Given the description of an element on the screen output the (x, y) to click on. 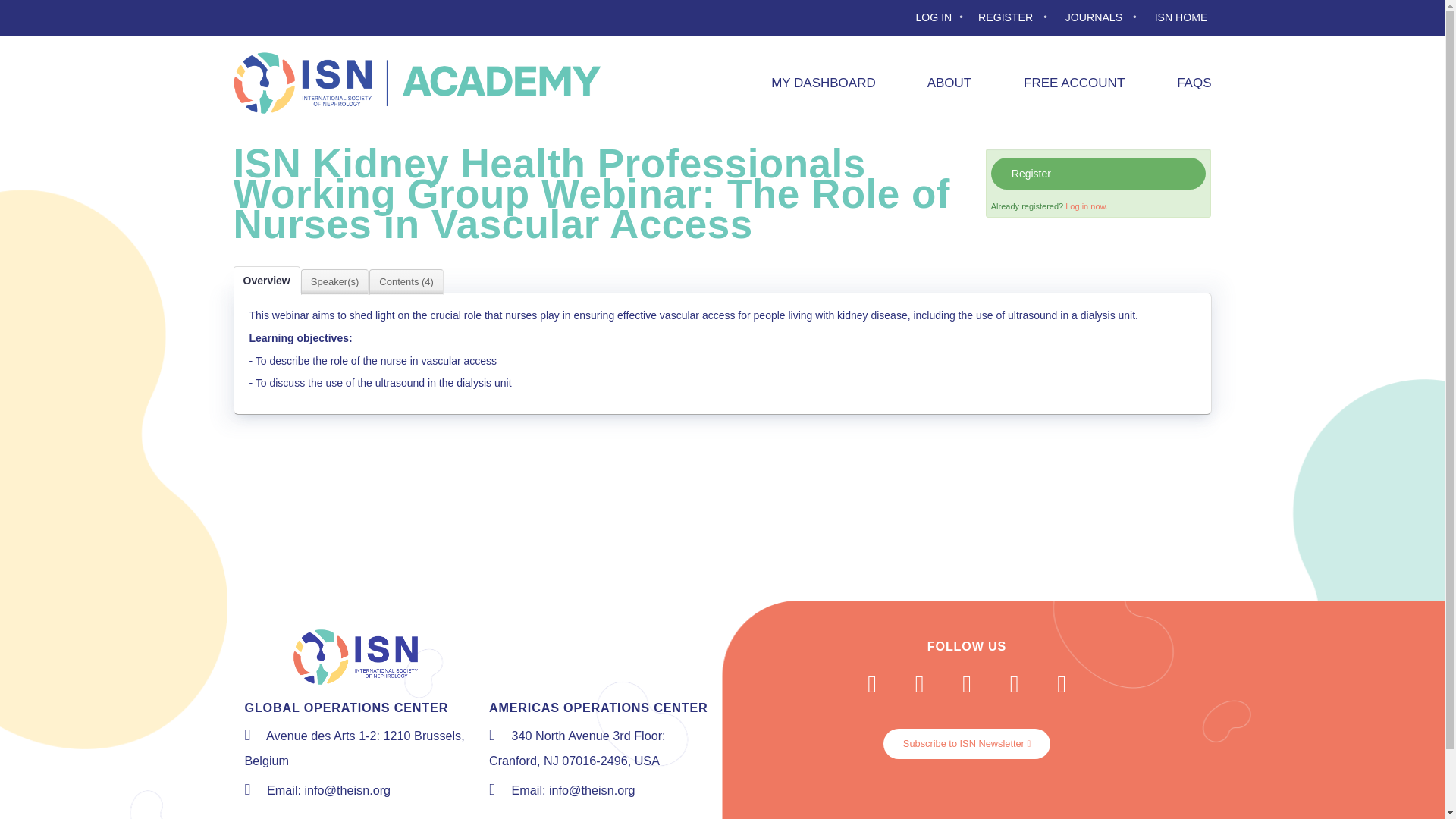
Linkedin (1061, 683)
LOG IN (942, 18)
REGISTER (1016, 18)
Instagram (1013, 683)
Overview (265, 280)
Subscribe to ISN Newsletter (966, 743)
Log in now. (1086, 205)
Twitter (920, 683)
JOURNALS (1104, 18)
FREE ACCOUNT (1060, 82)
